Given the description of an element on the screen output the (x, y) to click on. 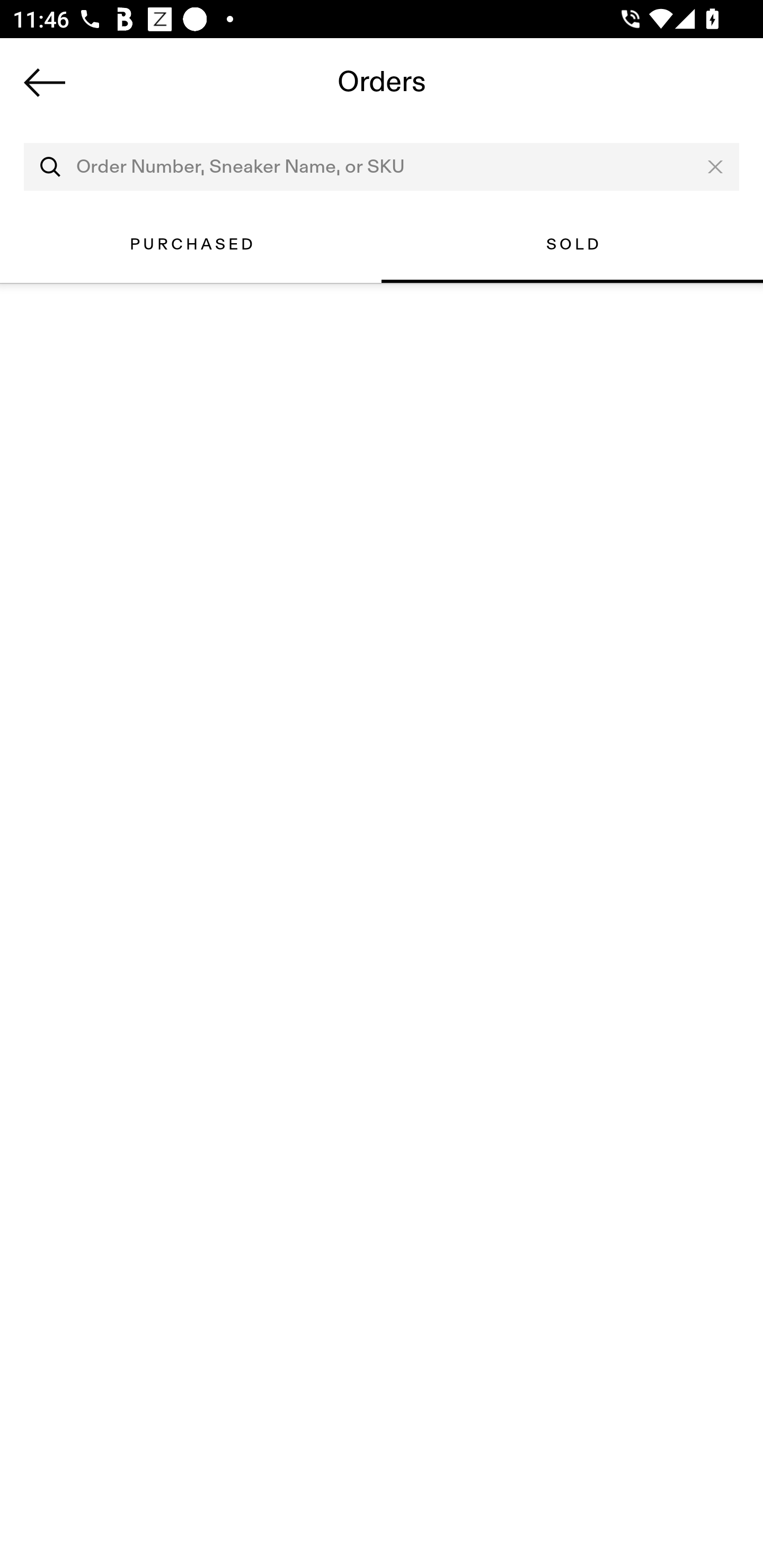
Navigate up (44, 82)
Order Number, Sneaker Name, or SKU (381, 166)
PURCHASED (190, 244)
